Given the description of an element on the screen output the (x, y) to click on. 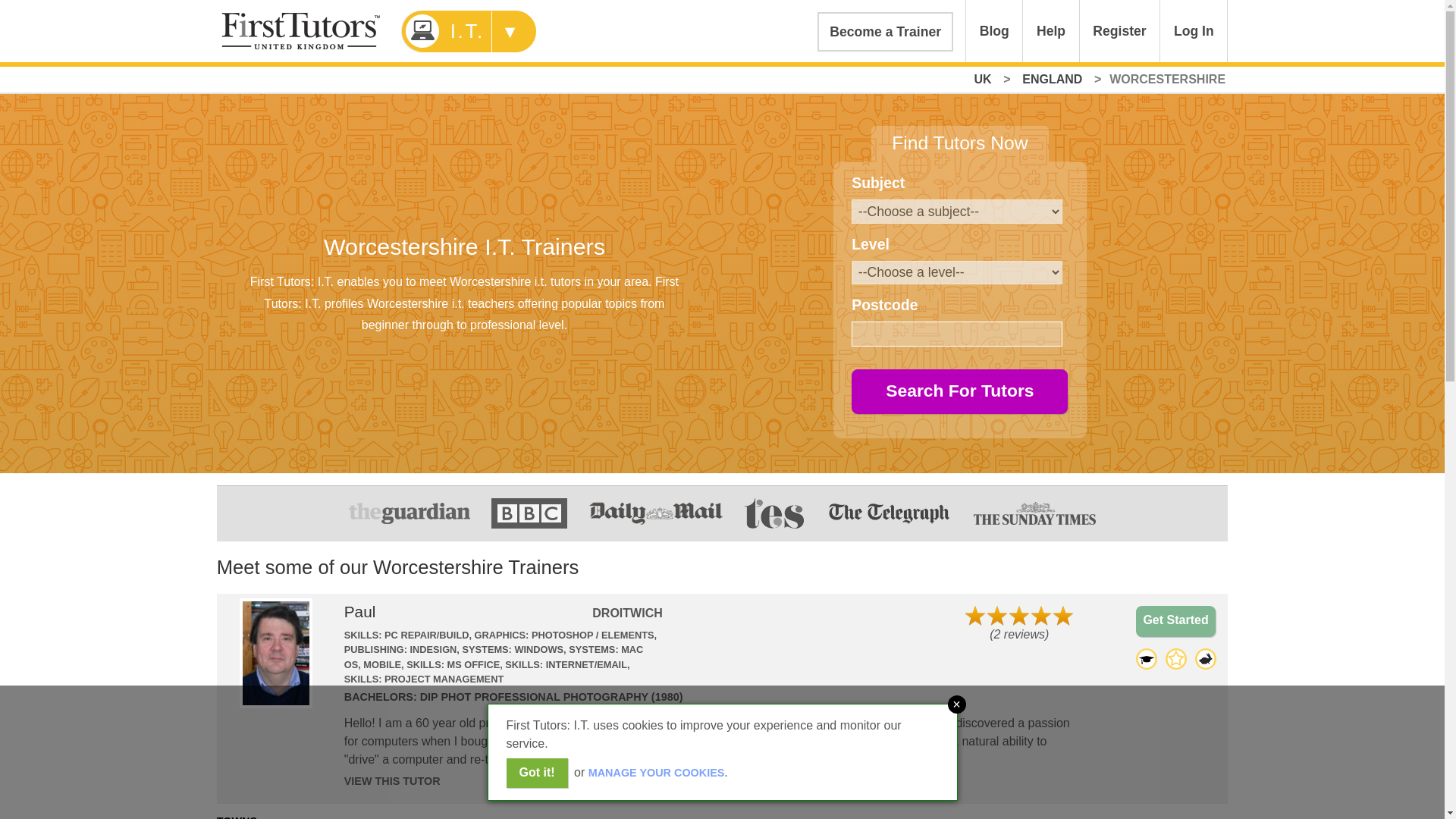
MANAGE YOUR COOKIES (656, 772)
Read our blog covering education trends and private training (994, 31)
VIEW THIS TUTOR (392, 780)
Join First Tutors: I.T. as a trainer (884, 31)
Become a Trainer (884, 31)
Get help using First Tutors: I.T. (1050, 31)
ENGLAND (1051, 78)
Sign in to First Tutors: I.T. (1193, 31)
Register (1120, 31)
Manage your cookies (656, 772)
Get Started (1175, 622)
UK (983, 78)
Search For Tutors (959, 391)
Log In (1193, 31)
